Given the description of an element on the screen output the (x, y) to click on. 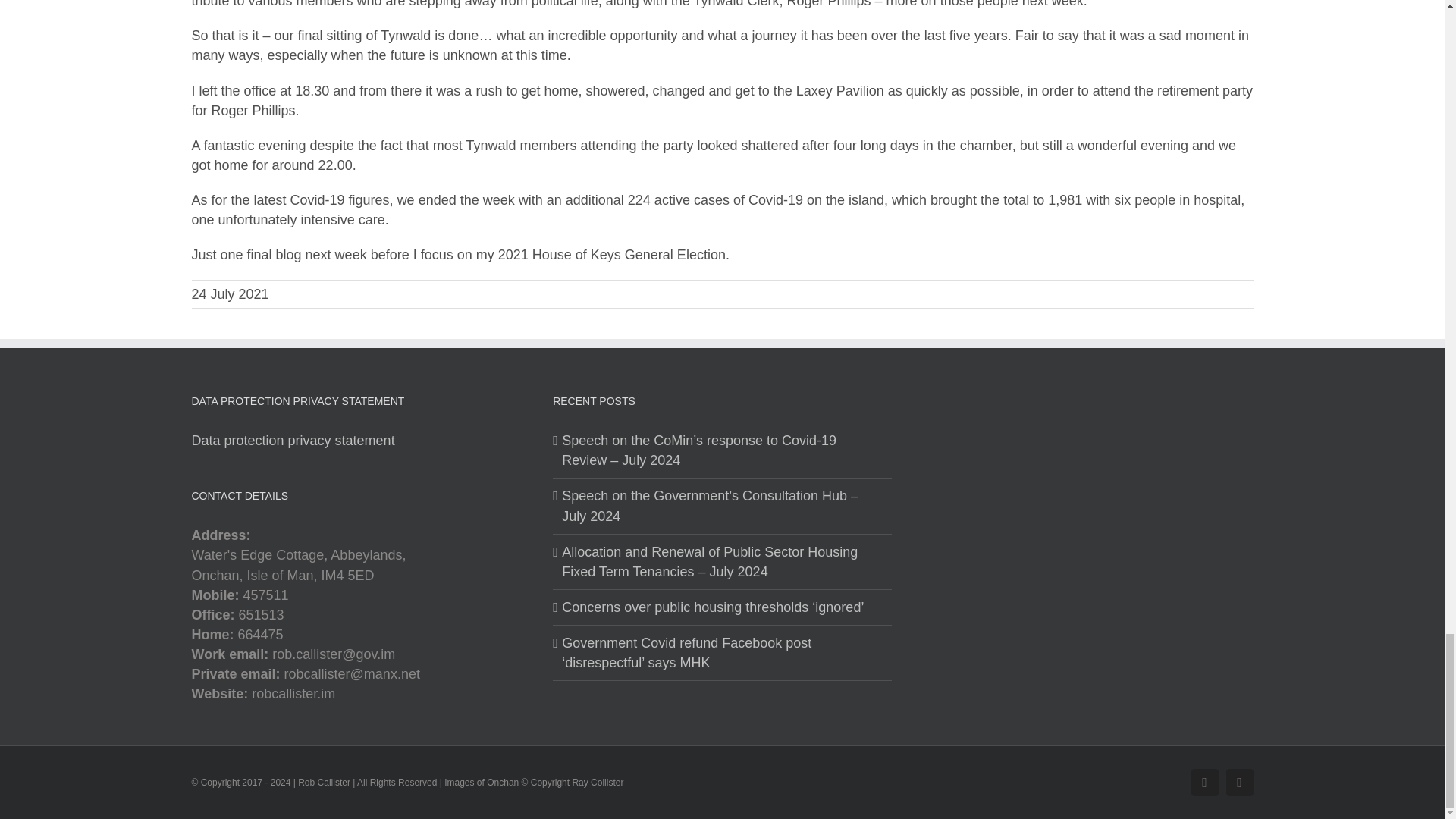
Facebook (1204, 782)
Facebook (1204, 782)
X (1238, 782)
X (1238, 782)
Data protection privacy statement (292, 440)
